Given the description of an element on the screen output the (x, y) to click on. 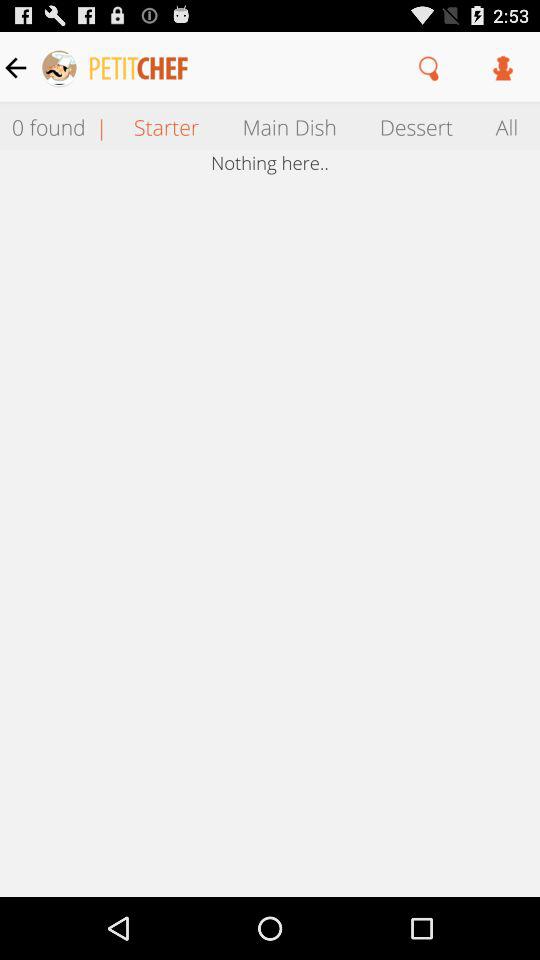
click the item to the right of the main dish icon (416, 126)
